Given the description of an element on the screen output the (x, y) to click on. 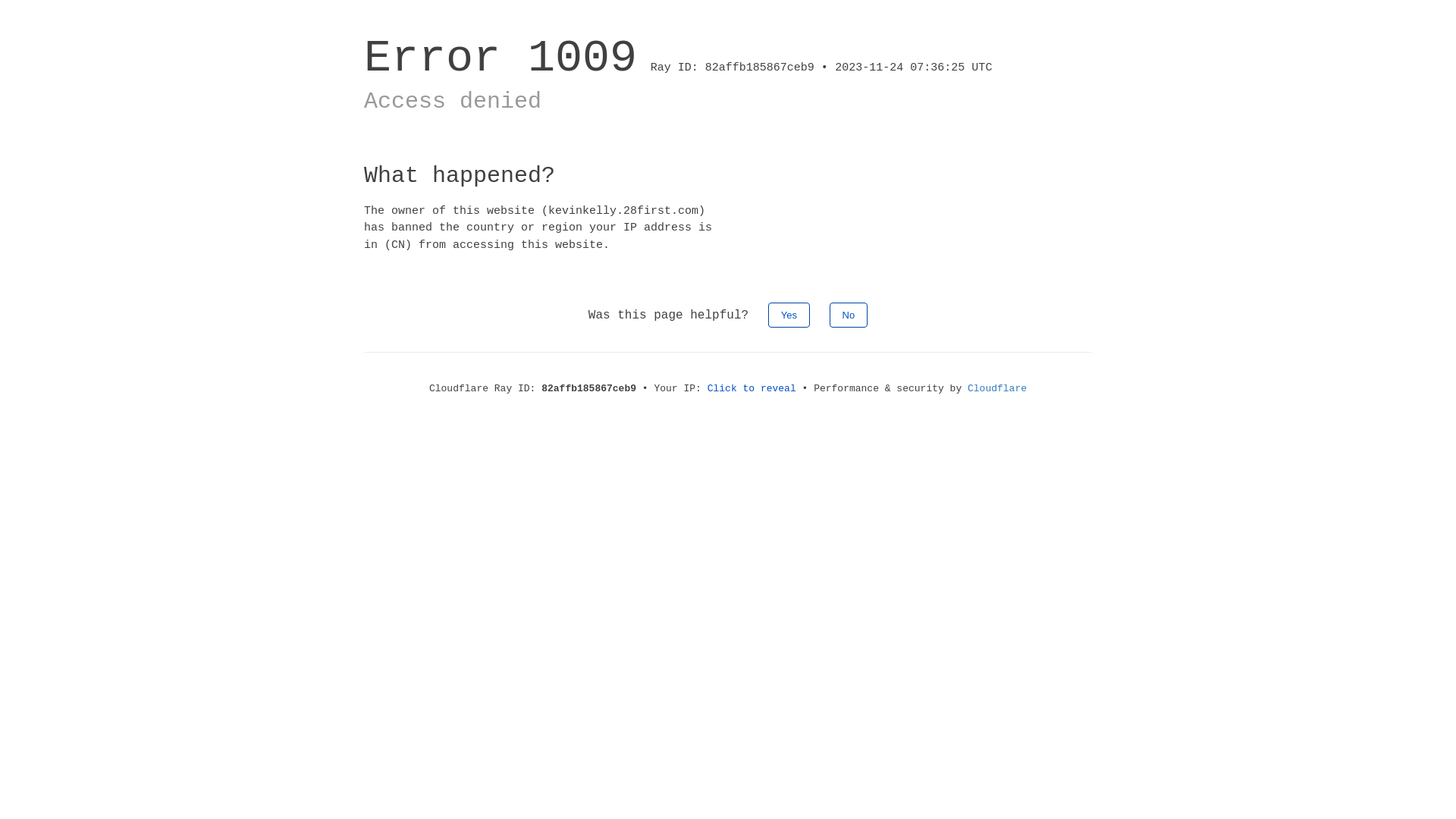
No Element type: text (848, 314)
Yes Element type: text (788, 314)
Cloudflare Element type: text (996, 388)
Click to reveal Element type: text (751, 388)
